Given the description of an element on the screen output the (x, y) to click on. 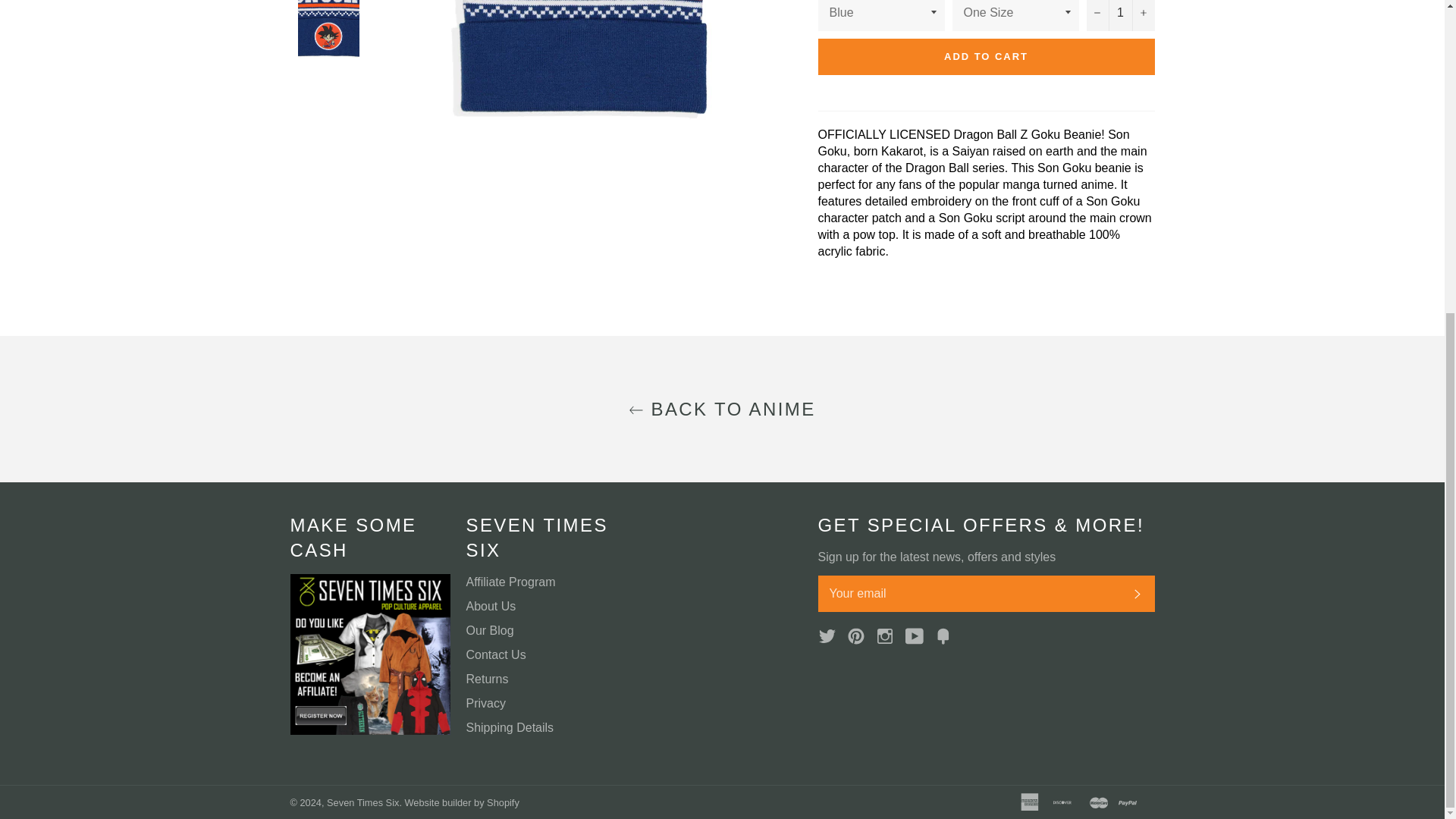
Seven Times Six on Instagram (888, 634)
1 (1120, 15)
Seven Times Six on Twitter (829, 634)
Seven Times Six on YouTube (918, 634)
Seven Times Six on Fancy (946, 634)
Pop Culture affiliate program (369, 729)
Seven Times Six on Pinterest (859, 634)
